Given the description of an element on the screen output the (x, y) to click on. 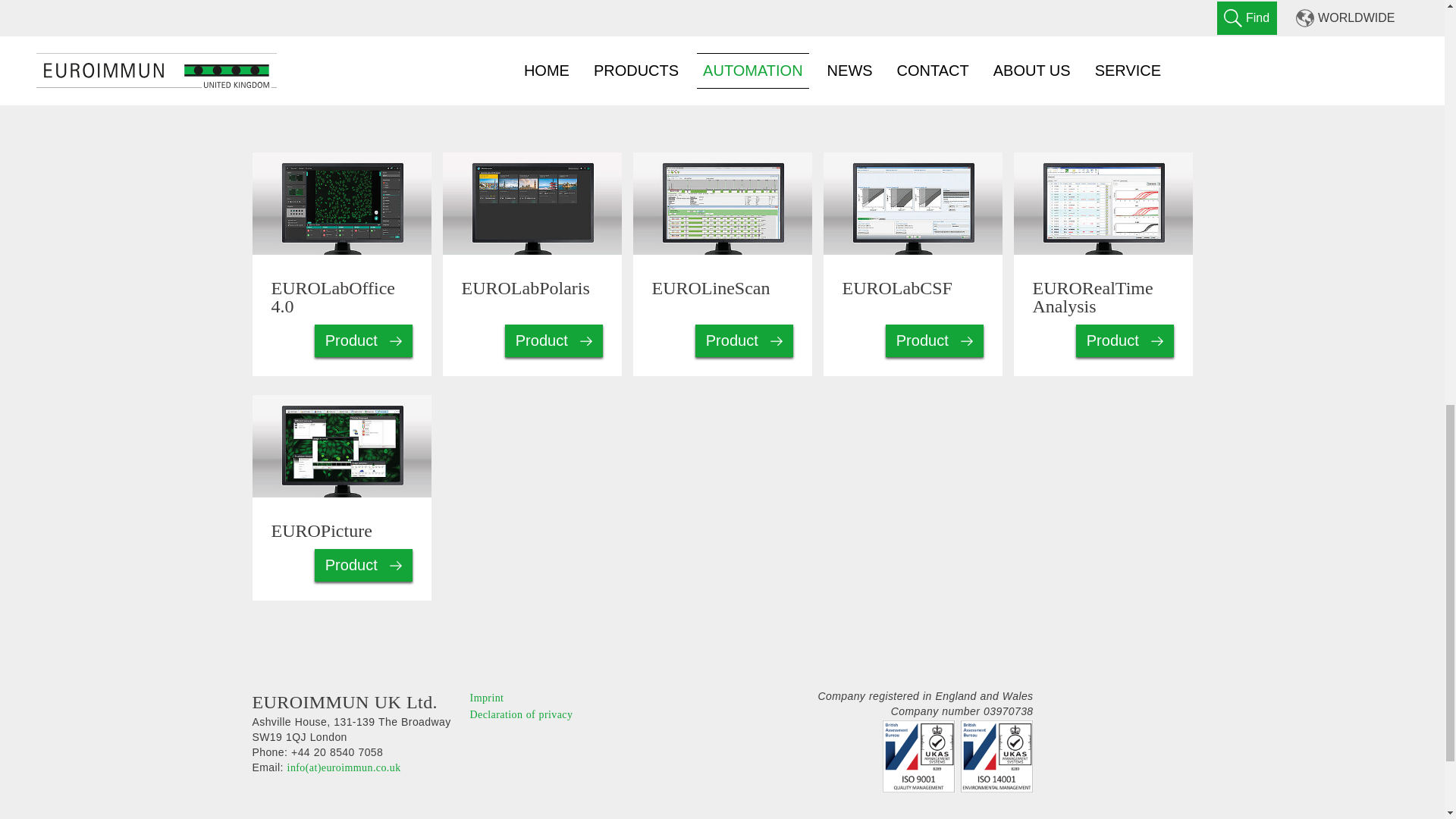
EUROLabPolaris (384, 7)
